Given the description of an element on the screen output the (x, y) to click on. 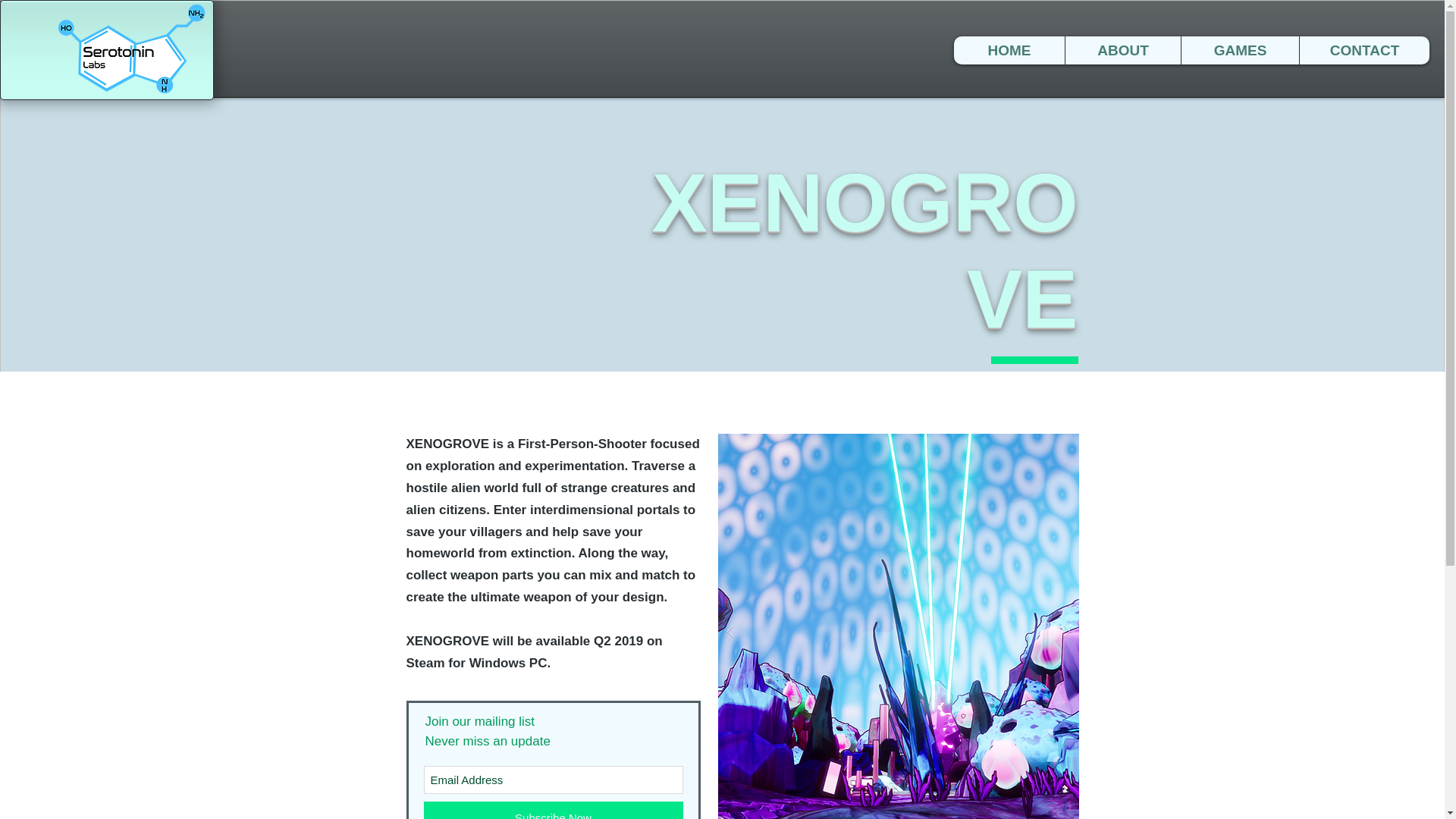
CONTACT (1363, 50)
ABOUT (1122, 50)
GAMES (1239, 50)
Subscribe Now (552, 810)
HOME (1008, 50)
